Given the description of an element on the screen output the (x, y) to click on. 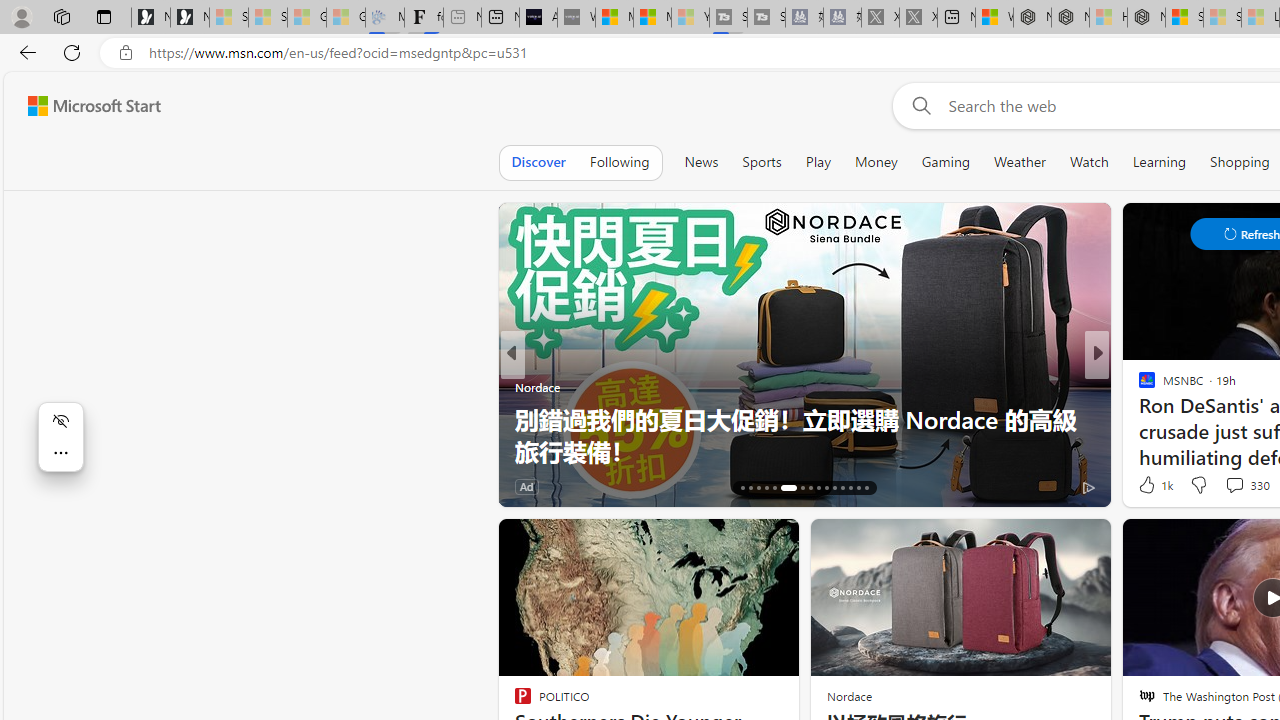
MUO (1138, 386)
LGBTQ Nation (1138, 386)
View comments 2 Comment (1229, 485)
AutomationID: tab-16 (742, 487)
Stacker (1138, 386)
TAG24 NEWS (1138, 386)
